Given the description of an element on the screen output the (x, y) to click on. 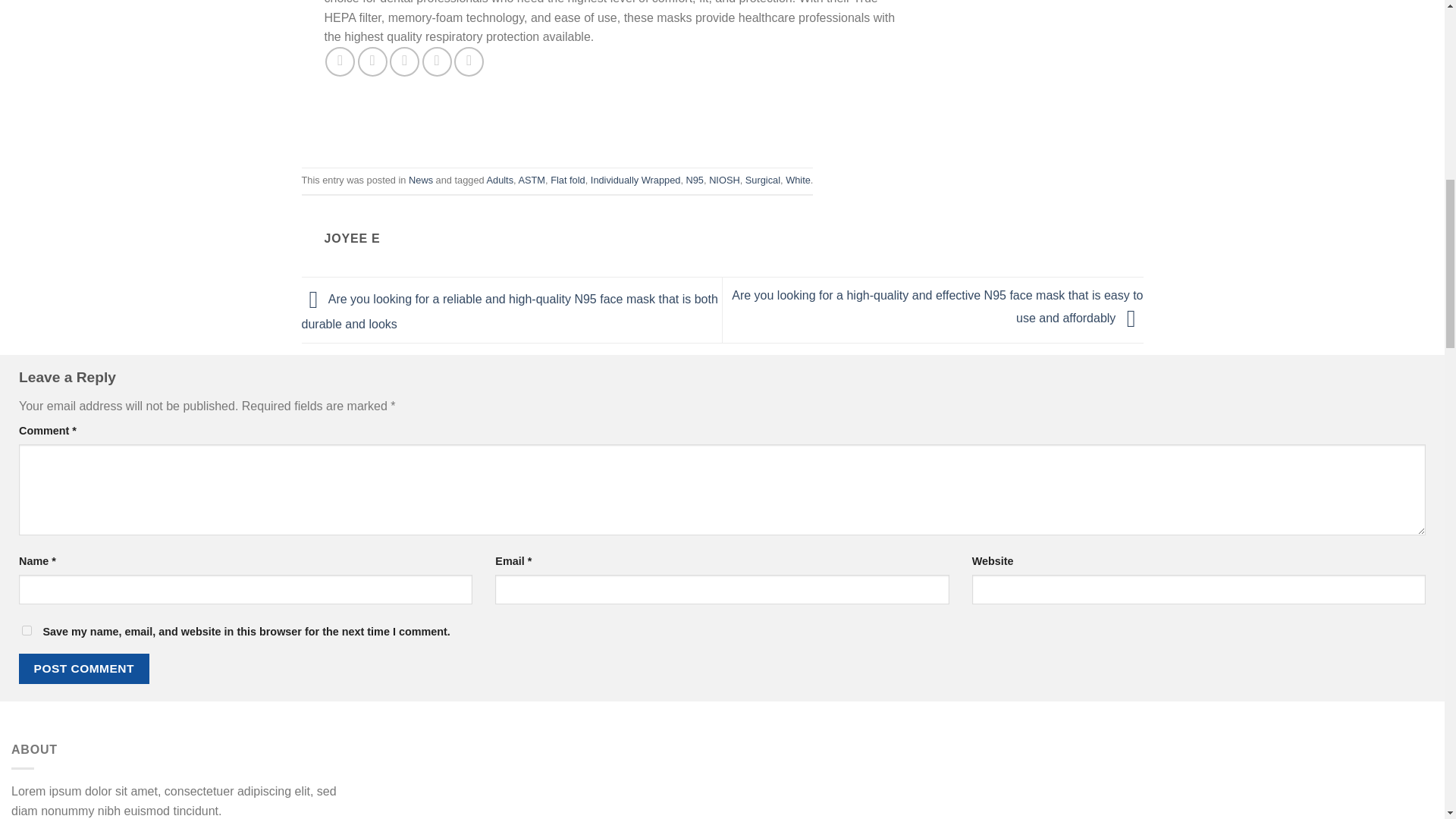
Email to a Friend (404, 61)
yes (26, 630)
Share on Twitter (372, 61)
Pin on Pinterest (436, 61)
Share on LinkedIn (468, 61)
Post Comment (83, 668)
